Given the description of an element on the screen output the (x, y) to click on. 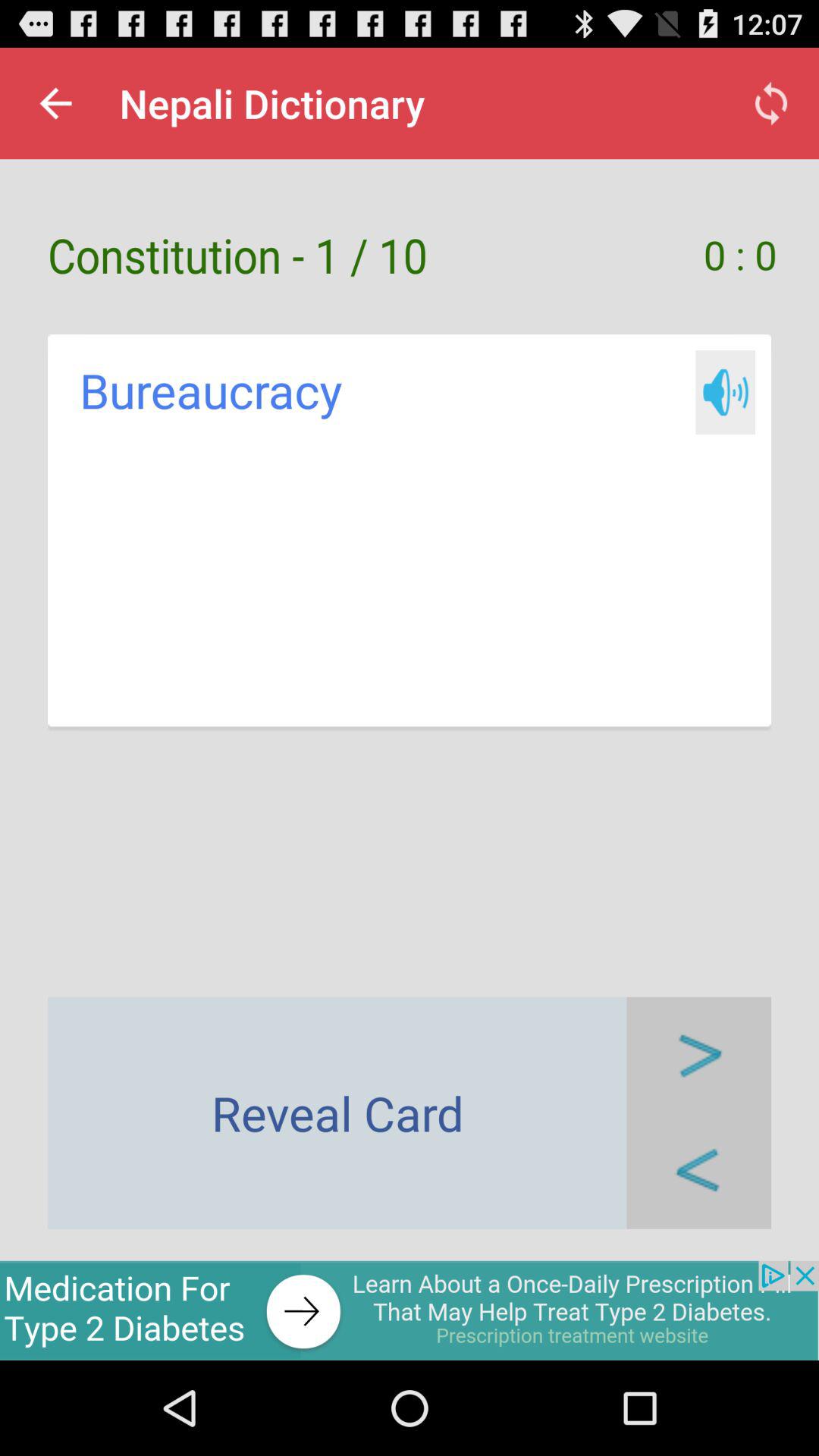
reveal next card (698, 1055)
